Given the description of an element on the screen output the (x, y) to click on. 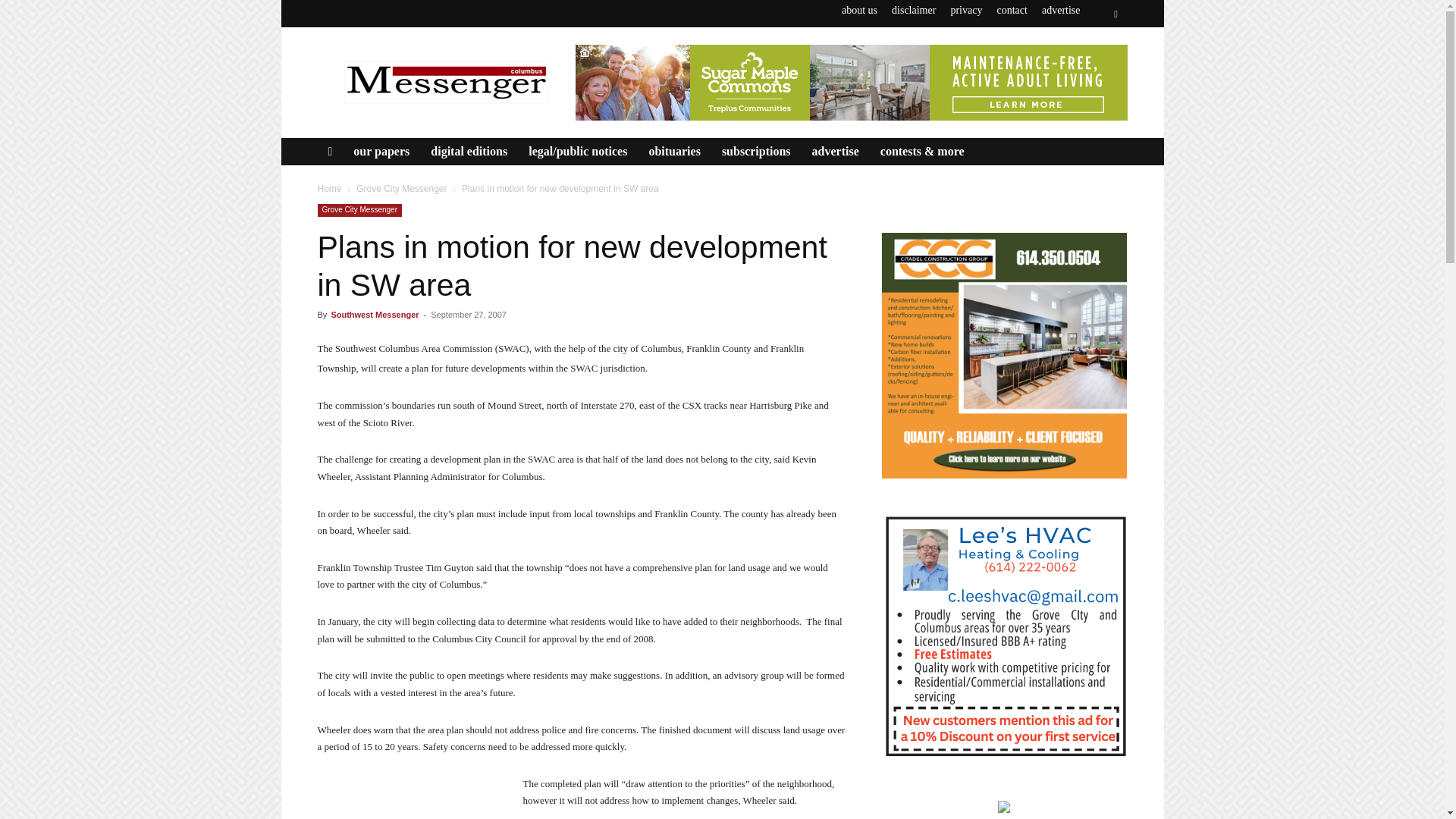
contact (1010, 9)
disclaimer (913, 9)
advertise (1061, 9)
about us (859, 9)
Columbus Messenger - Ohios Newspaper (445, 82)
our papers (381, 151)
Search (1085, 70)
privacy (965, 9)
View all posts in Grove City Messenger (401, 188)
